Given the description of an element on the screen output the (x, y) to click on. 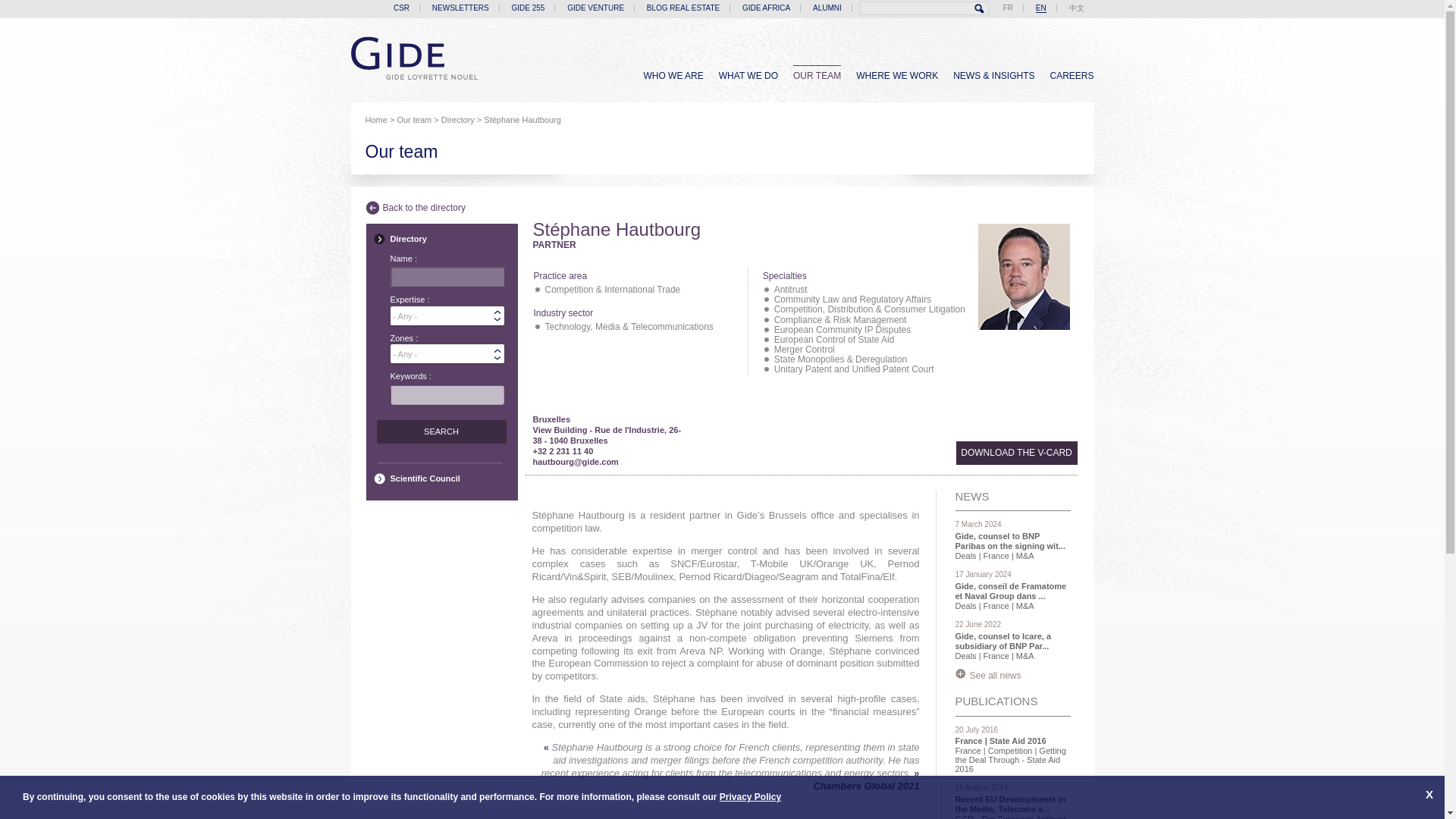
GIDE AFRICA (766, 8)
Search (440, 431)
NEWSLETTERS (460, 8)
BLOG REAL ESTATE (682, 8)
Search (979, 8)
OUR TEAM (817, 75)
CSR (401, 8)
ALUMNI (826, 8)
Search (979, 8)
GIDE VENTURE (595, 8)
WHO WE ARE (673, 75)
WHAT WE DO (748, 75)
FR (1008, 8)
WHERE WE WORK (896, 75)
